Given the description of an element on the screen output the (x, y) to click on. 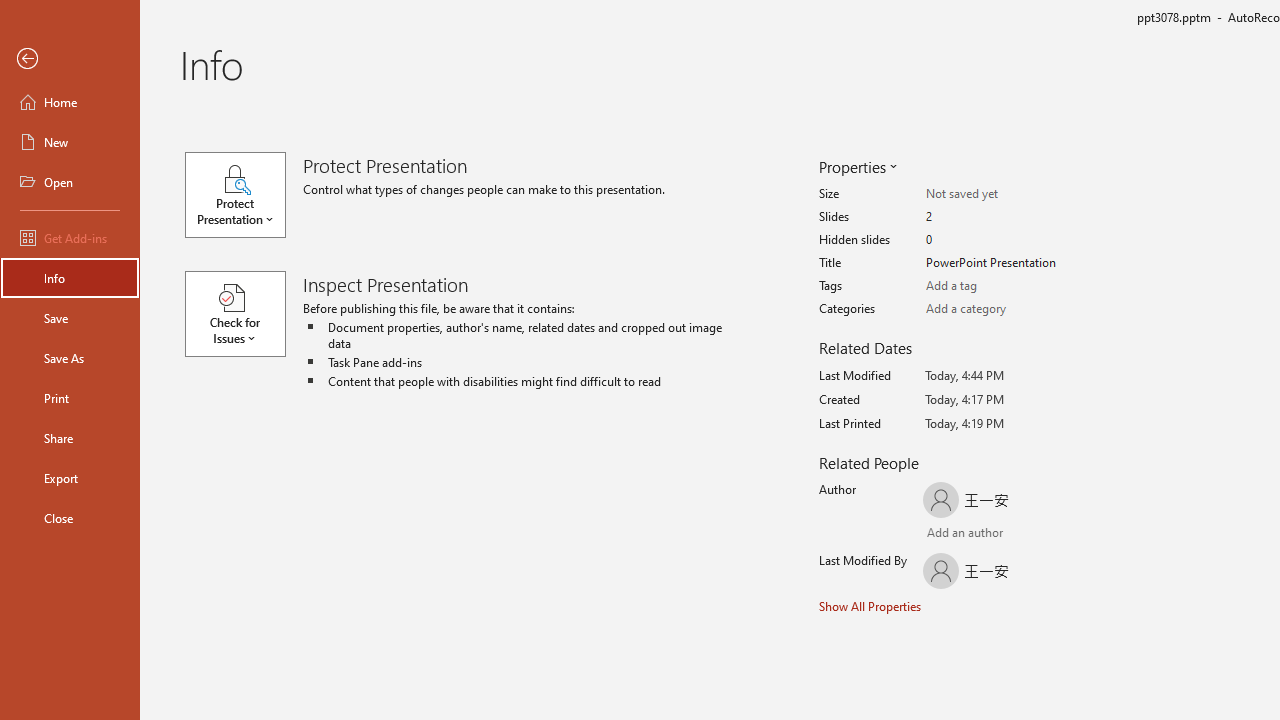
Check for Issues (244, 313)
Browse Address Book (1047, 534)
Show All Properties (870, 606)
Slides (1003, 217)
Get Add-ins (69, 237)
Categories (1003, 309)
Verify Names (983, 534)
